Given the description of an element on the screen output the (x, y) to click on. 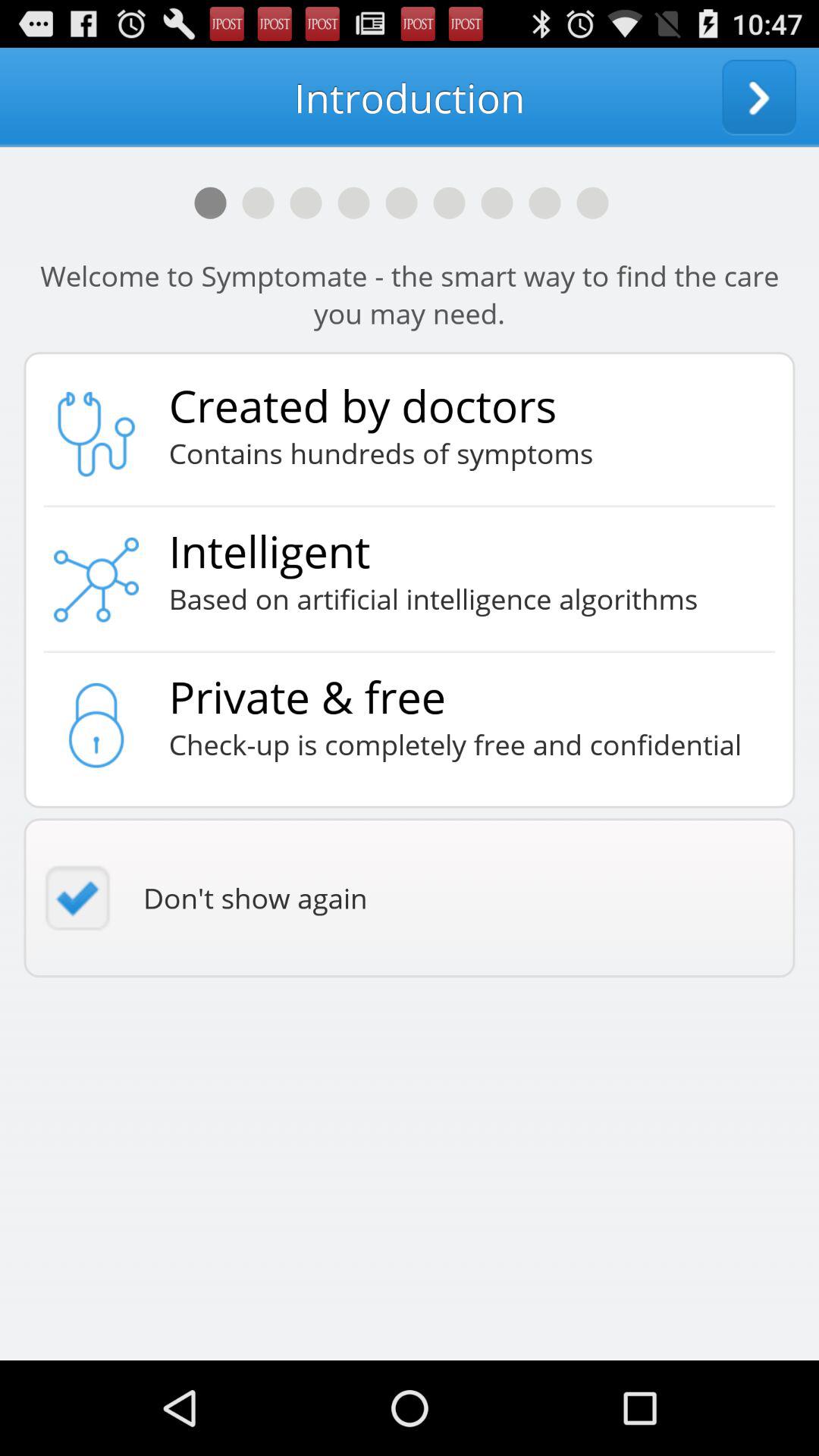
jump to the don t show icon (409, 897)
